Given the description of an element on the screen output the (x, y) to click on. 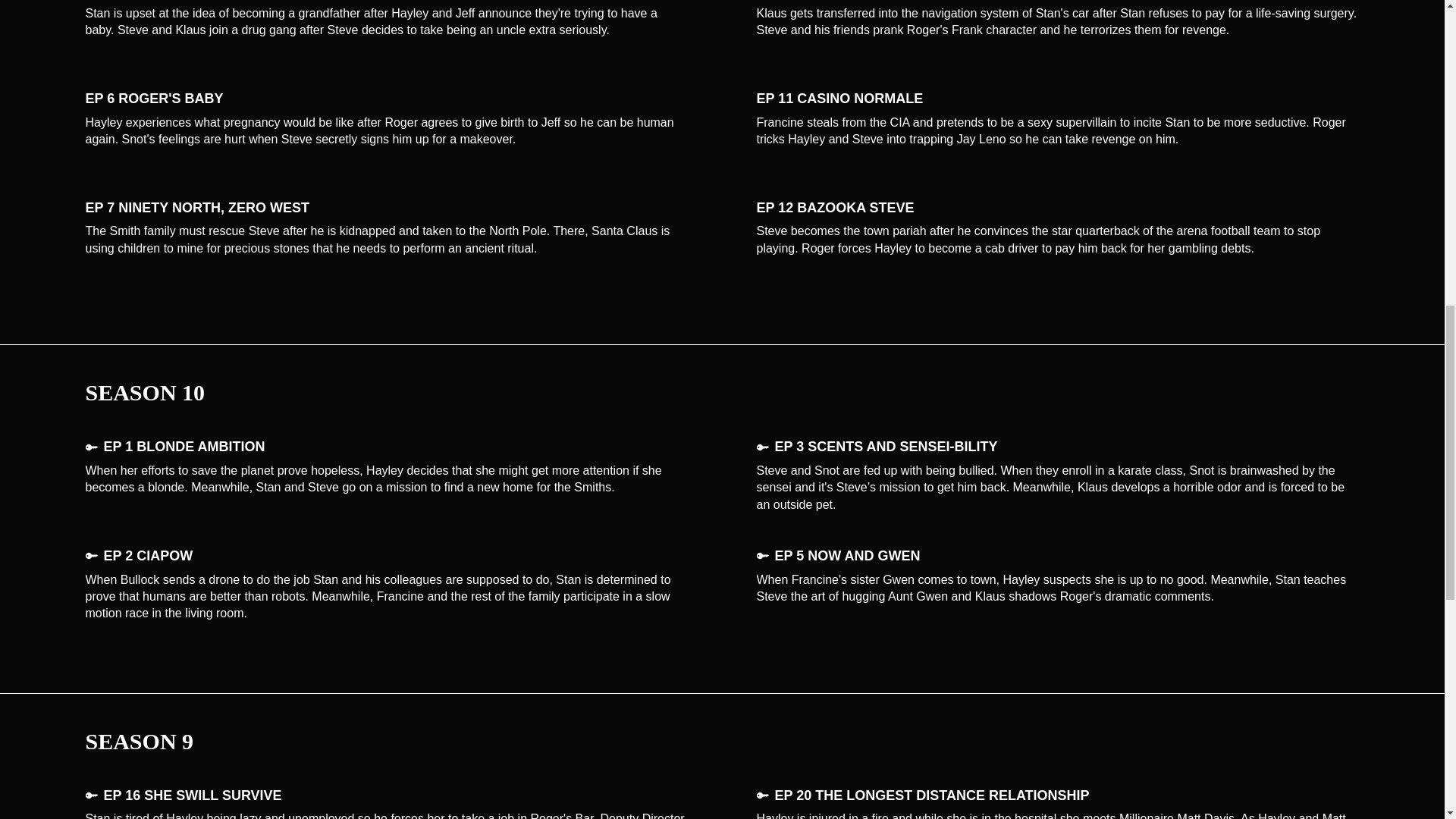
Ninety North, Zero West (385, 208)
Casino Normale (1058, 98)
